Given the description of an element on the screen output the (x, y) to click on. 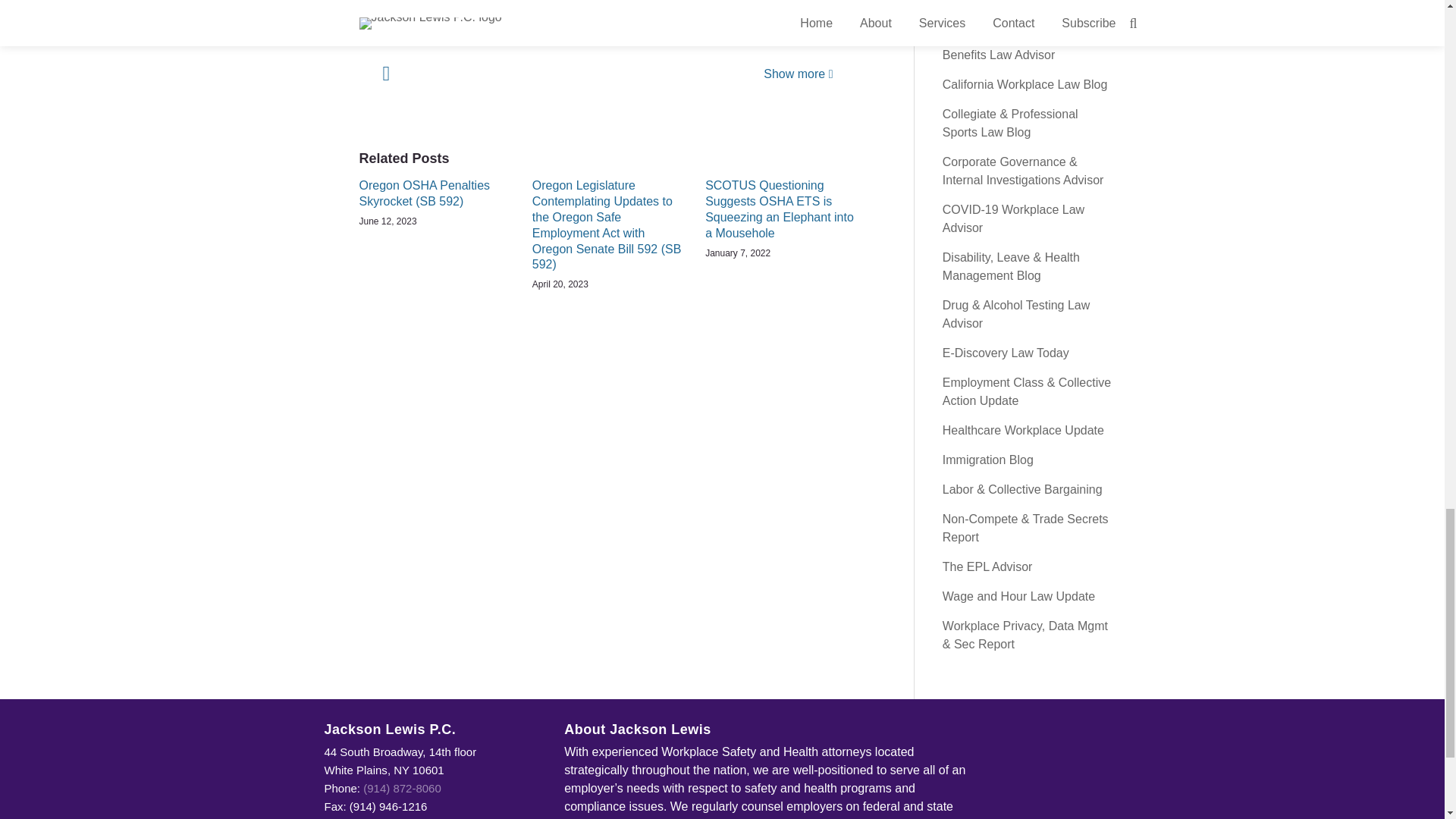
Show more (797, 73)
